Given the description of an element on the screen output the (x, y) to click on. 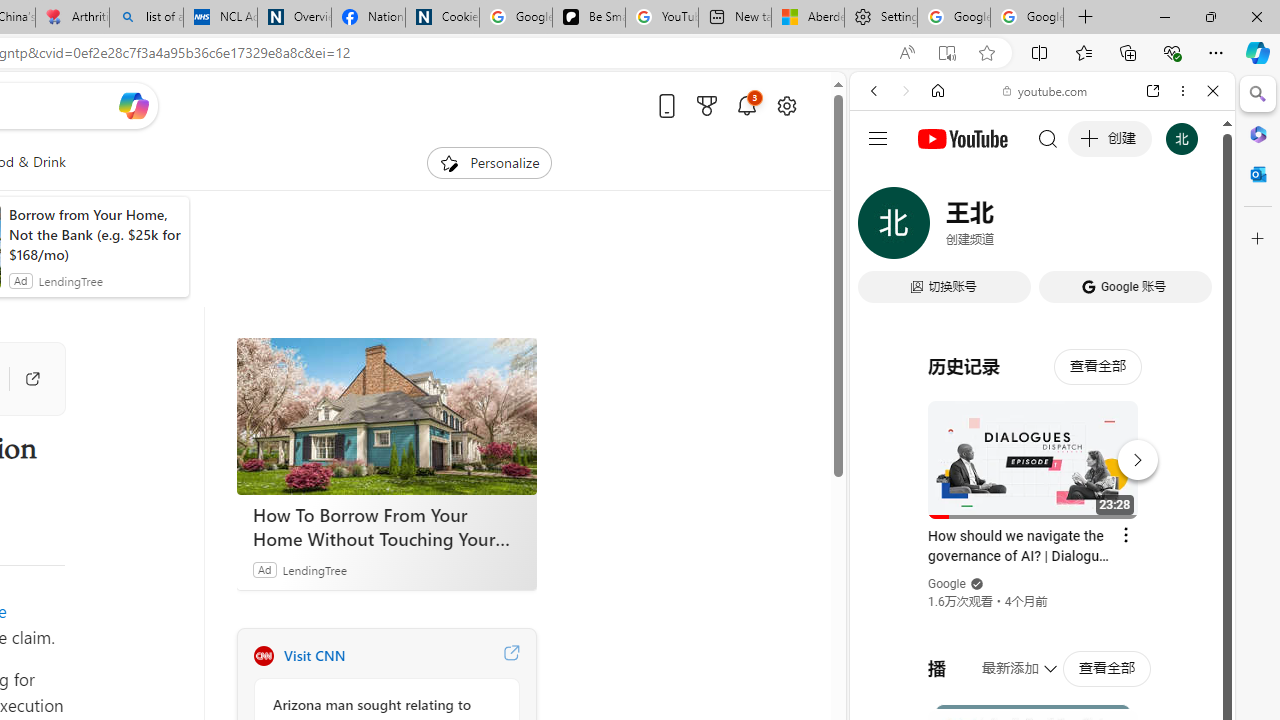
Personalize (488, 162)
Enter Immersive Reader (F9) (946, 53)
How To Borrow From Your Home Without Touching Your Mortgage (386, 526)
YouTube (1034, 296)
Search the web (1051, 137)
Global web icon (888, 288)
youtube.com (1046, 90)
Web scope (882, 180)
Music (1042, 543)
NCL Adult Asthma Inhaler Choice Guideline (220, 17)
